Given the description of an element on the screen output the (x, y) to click on. 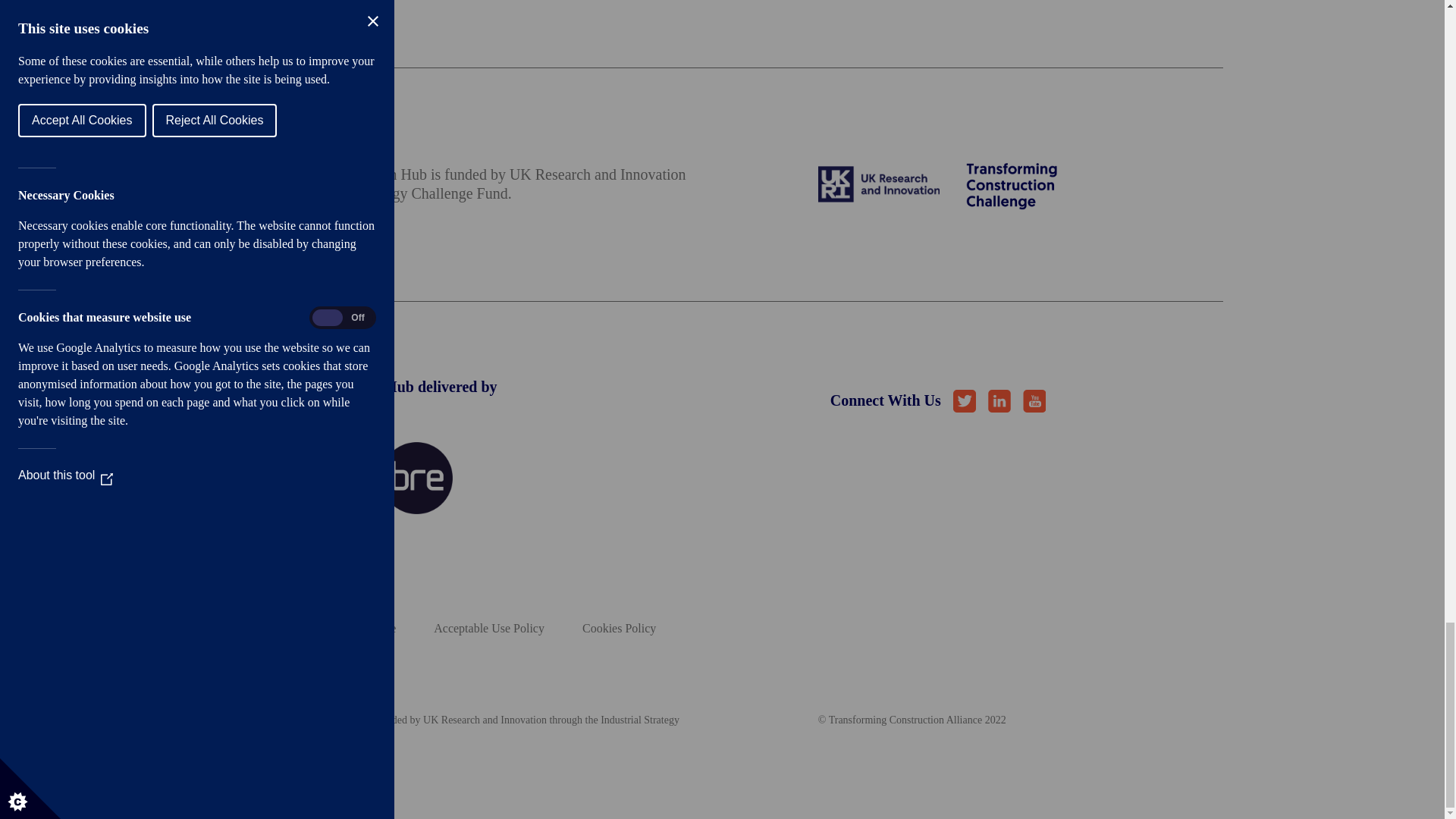
Terms of Use (363, 628)
Acceptable Use Policy (488, 628)
Privacy Policy (256, 628)
Cookies Policy (619, 628)
